Given the description of an element on the screen output the (x, y) to click on. 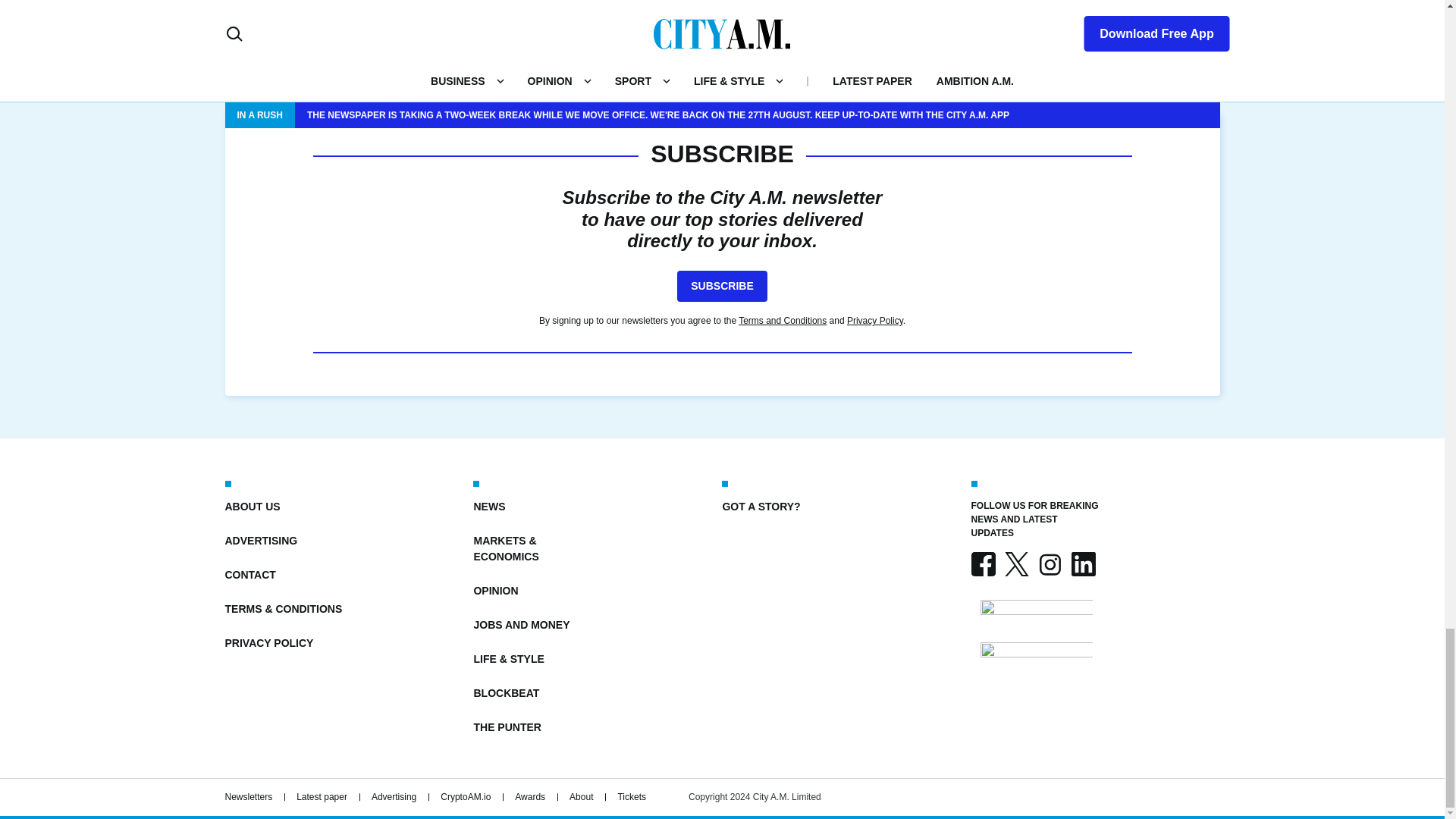
INSTAGRAM (1048, 564)
FACEBOOK (982, 564)
LINKEDIN (1082, 564)
X (1015, 564)
